Given the description of an element on the screen output the (x, y) to click on. 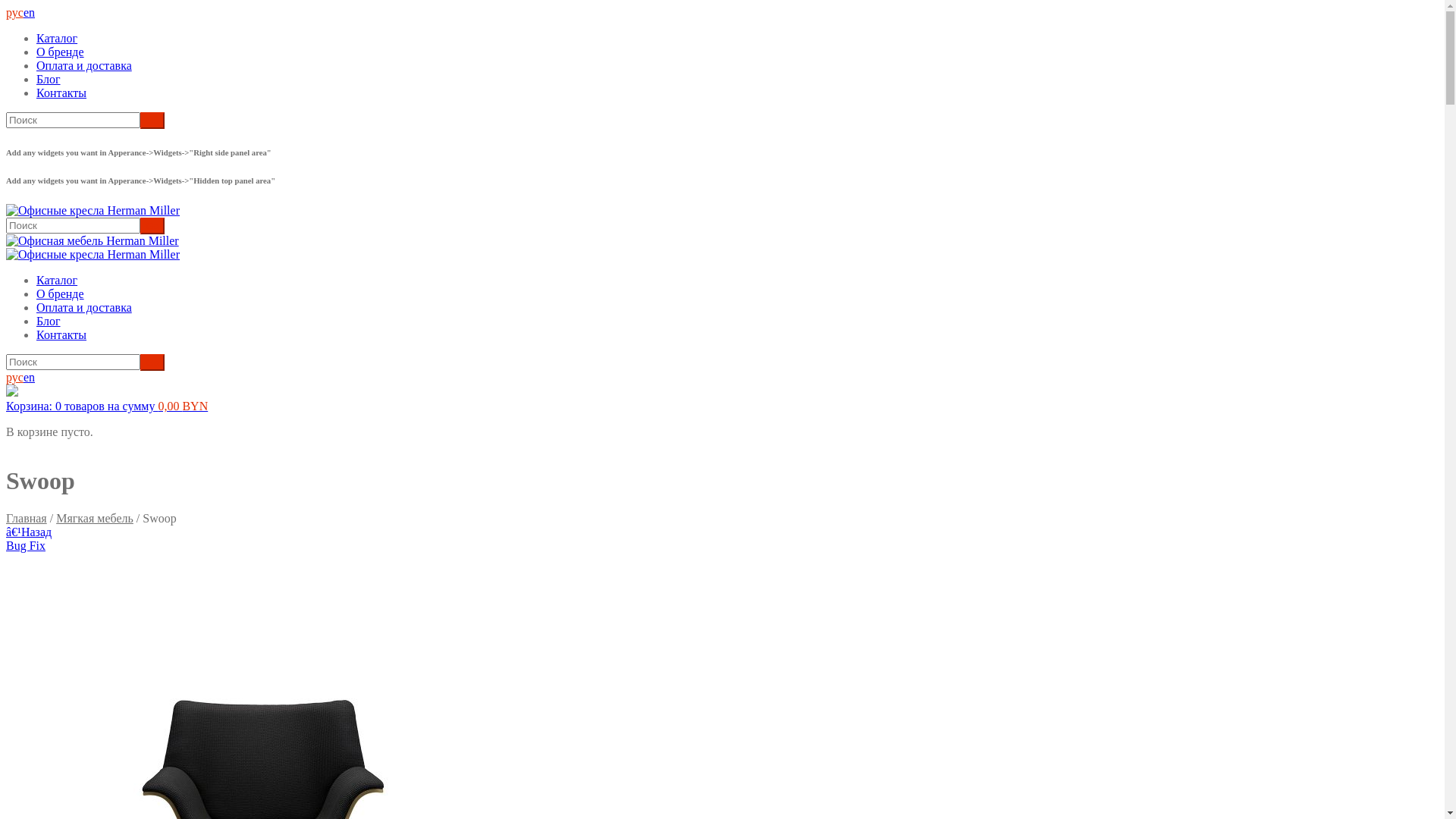
Go Element type: text (152, 225)
en Element type: text (28, 12)
Go Element type: text (152, 120)
en Element type: text (28, 377)
Go Element type: text (152, 362)
Bug Fix Element type: text (25, 545)
